Given the description of an element on the screen output the (x, y) to click on. 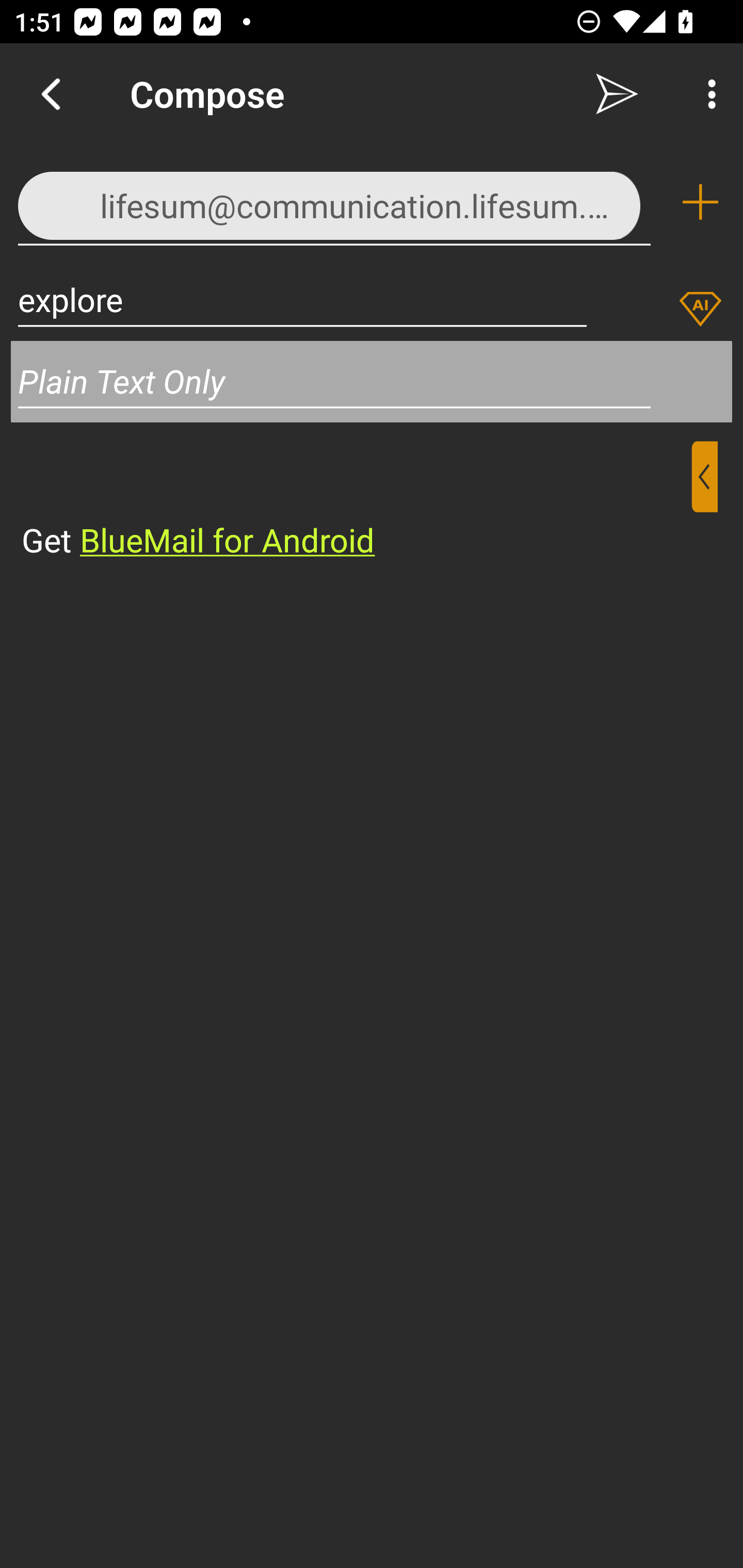
Navigate up (50, 93)
Send (616, 93)
More Options (706, 93)
<lifesum@communication.lifesum.com>,  (334, 201)
Add recipient (To) (699, 201)
explore (302, 299)
Plain Text Only (371, 380)


⁣Get BlueMail for Android ​ (355, 501)
